Given the description of an element on the screen output the (x, y) to click on. 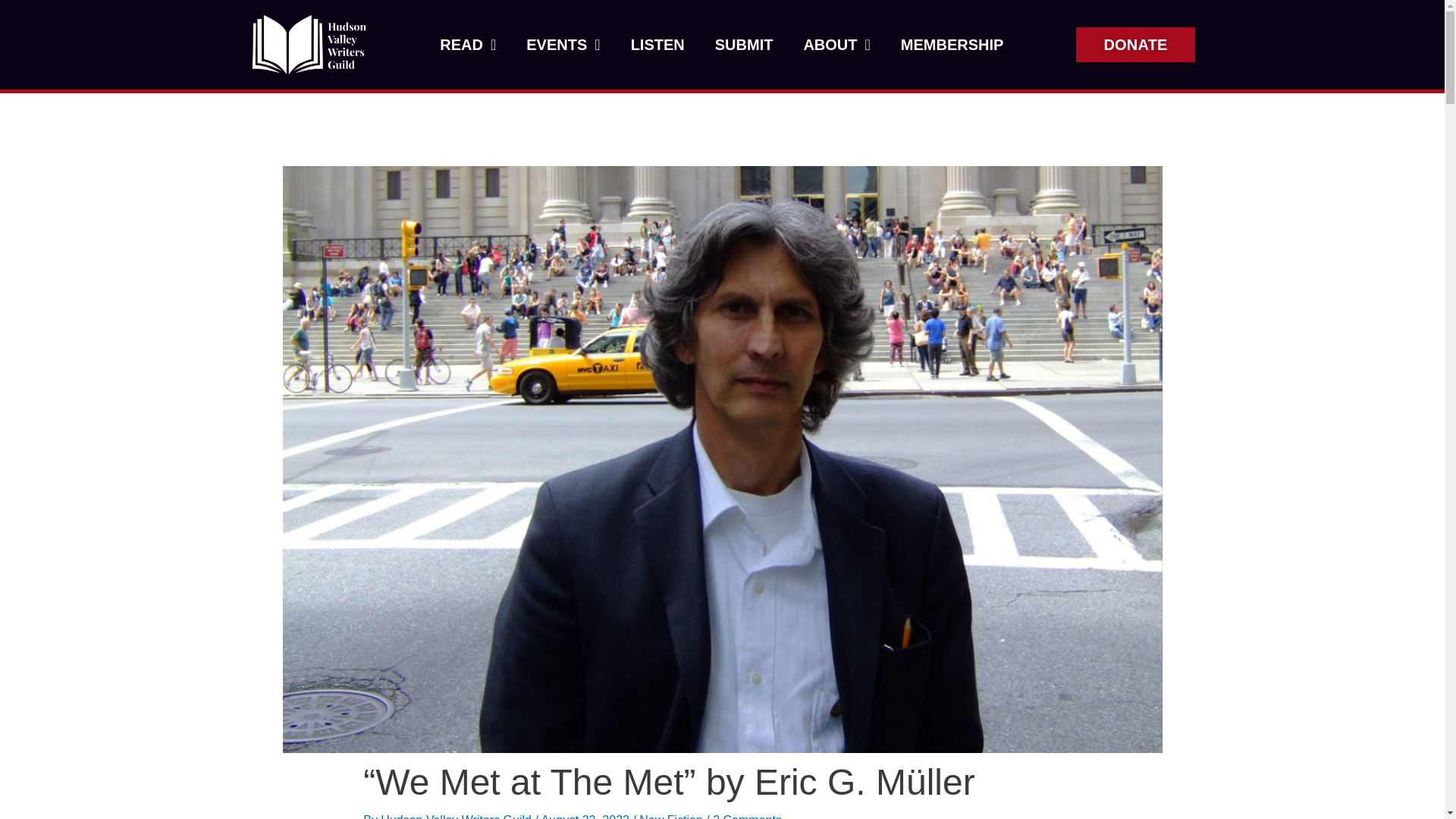
MEMBERSHIP (952, 44)
SUBMIT (744, 44)
View all posts by Hudson Valley Writers Guild (457, 816)
ABOUT (836, 44)
EVENTS (562, 44)
LISTEN (657, 44)
READ (468, 44)
